Given the description of an element on the screen output the (x, y) to click on. 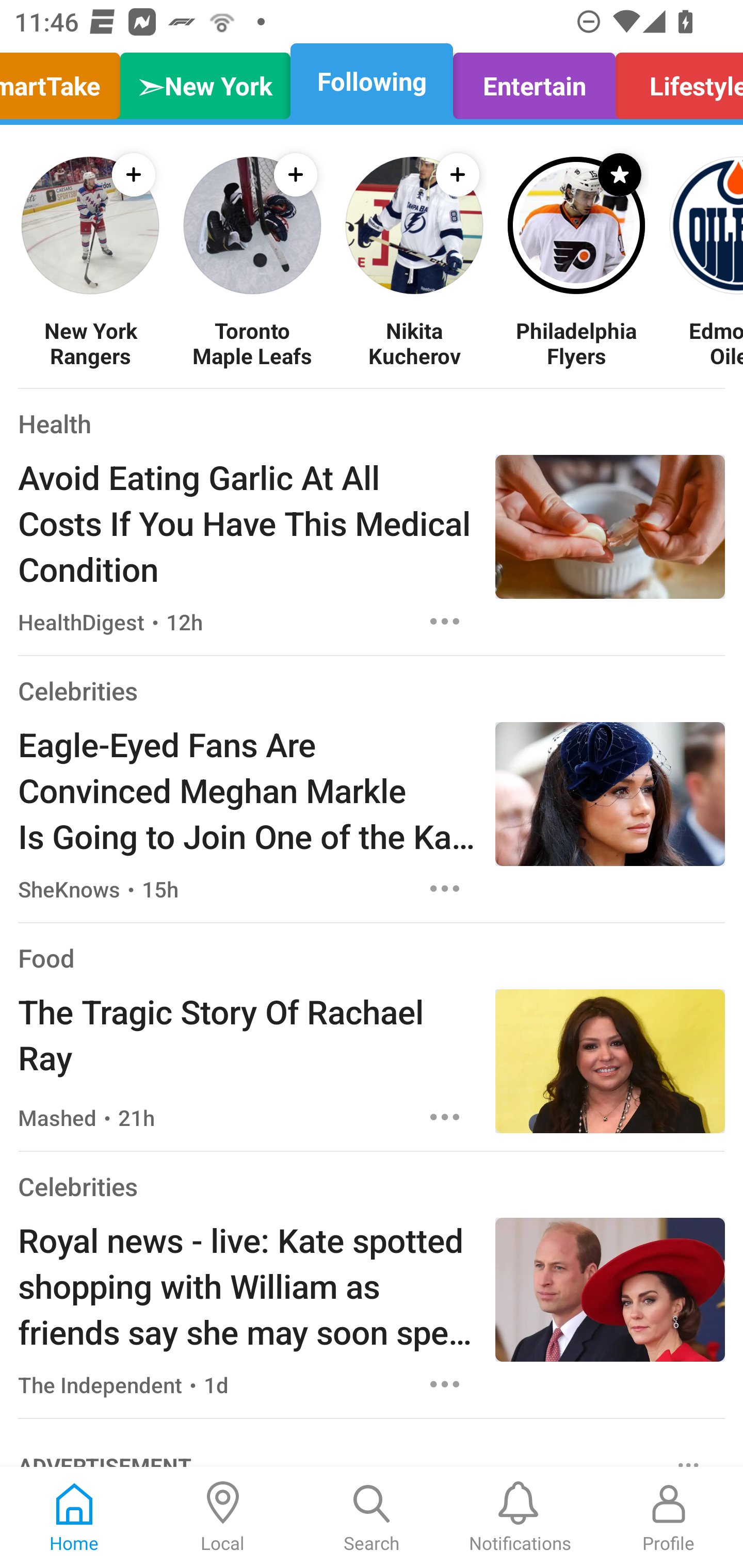
➣New York (205, 81)
Following (371, 81)
Entertain (534, 81)
New York Rangers (89, 342)
Toronto Maple Leafs (251, 342)
Nikita Kucherov (413, 342)
Philadelphia Flyers (575, 342)
Health (54, 423)
Options (444, 621)
Celebrities (77, 690)
Options (444, 889)
Food (46, 957)
Options (444, 1117)
Celebrities (77, 1185)
Options (444, 1384)
Local (222, 1517)
Search (371, 1517)
Notifications (519, 1517)
Profile (668, 1517)
